Given the description of an element on the screen output the (x, y) to click on. 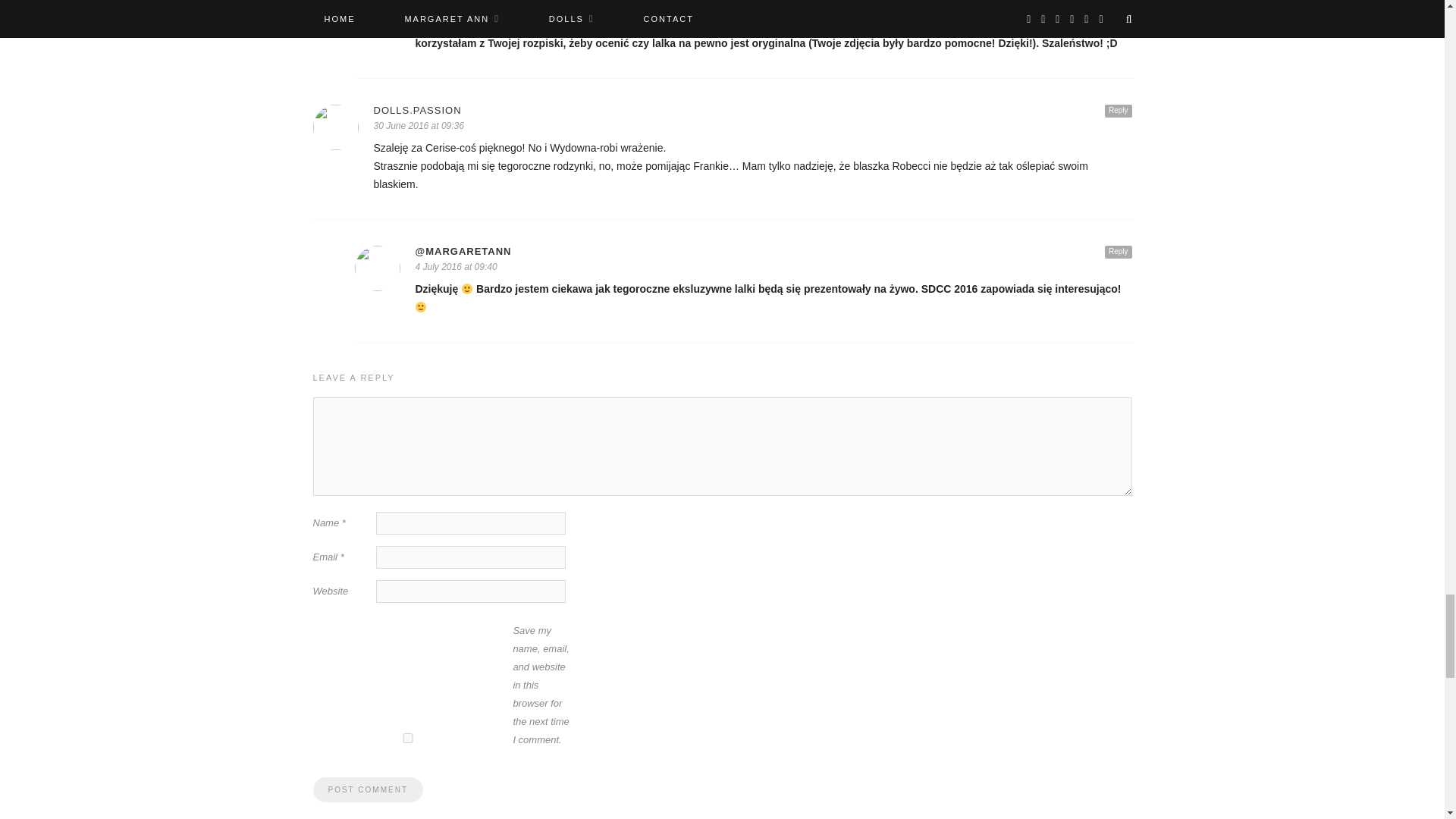
yes (407, 737)
Post Comment (367, 789)
